Given the description of an element on the screen output the (x, y) to click on. 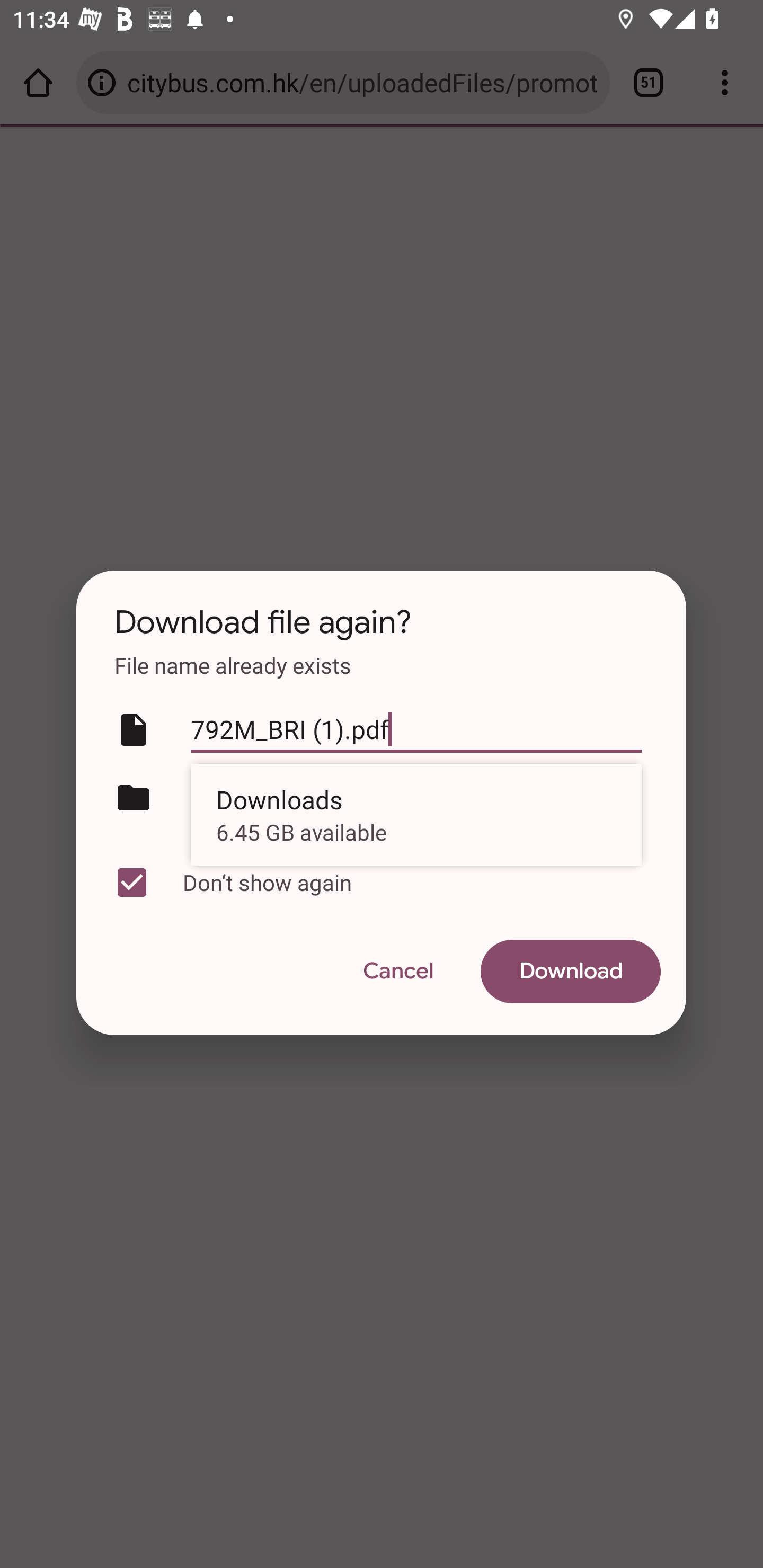
Downloads 6.45 GB available (415, 814)
